Given the description of an element on the screen output the (x, y) to click on. 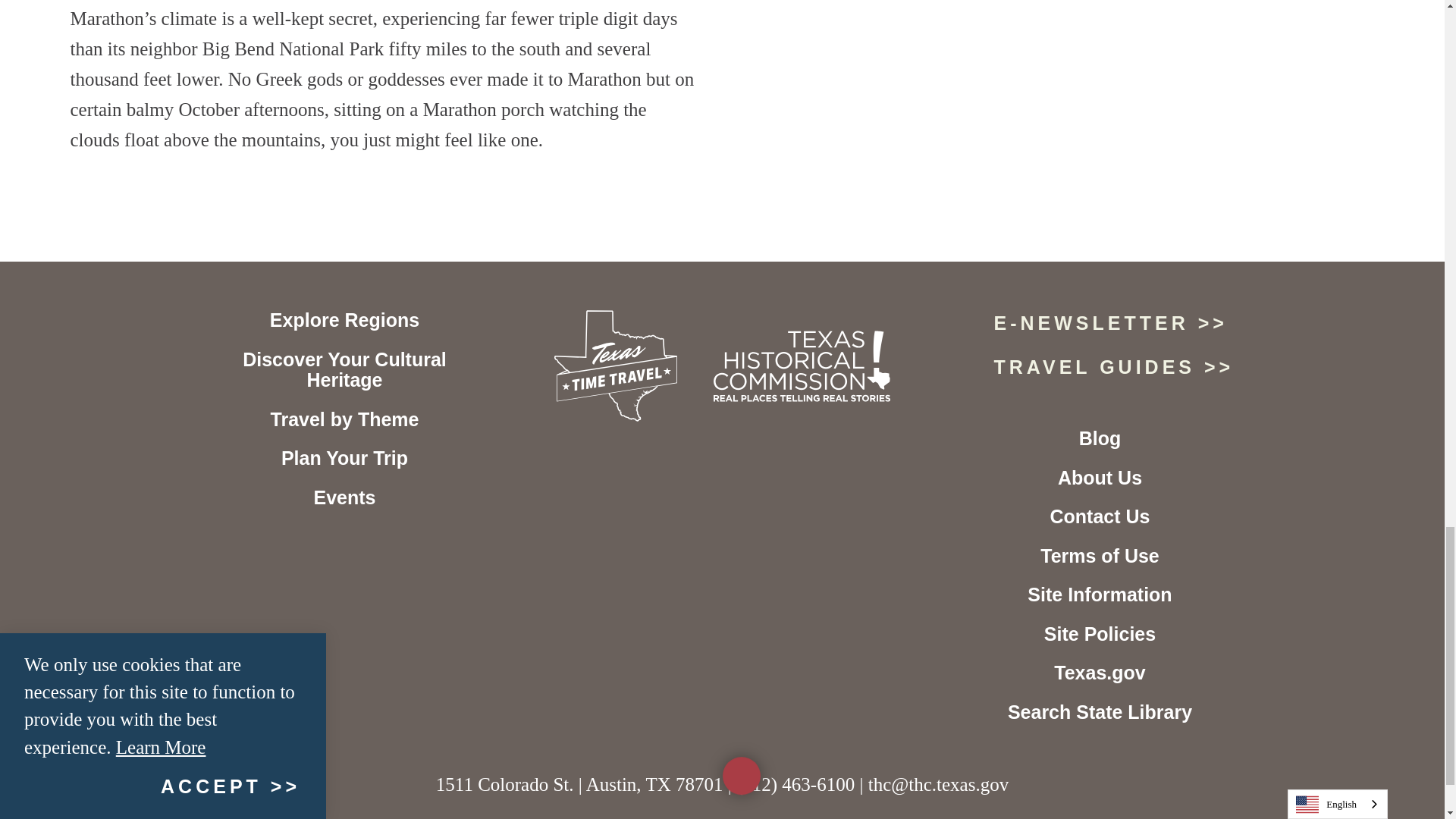
Travel by Theme (344, 418)
Discover Your Cultural Heritage (344, 369)
Explore Regions (344, 319)
